Given the description of an element on the screen output the (x, y) to click on. 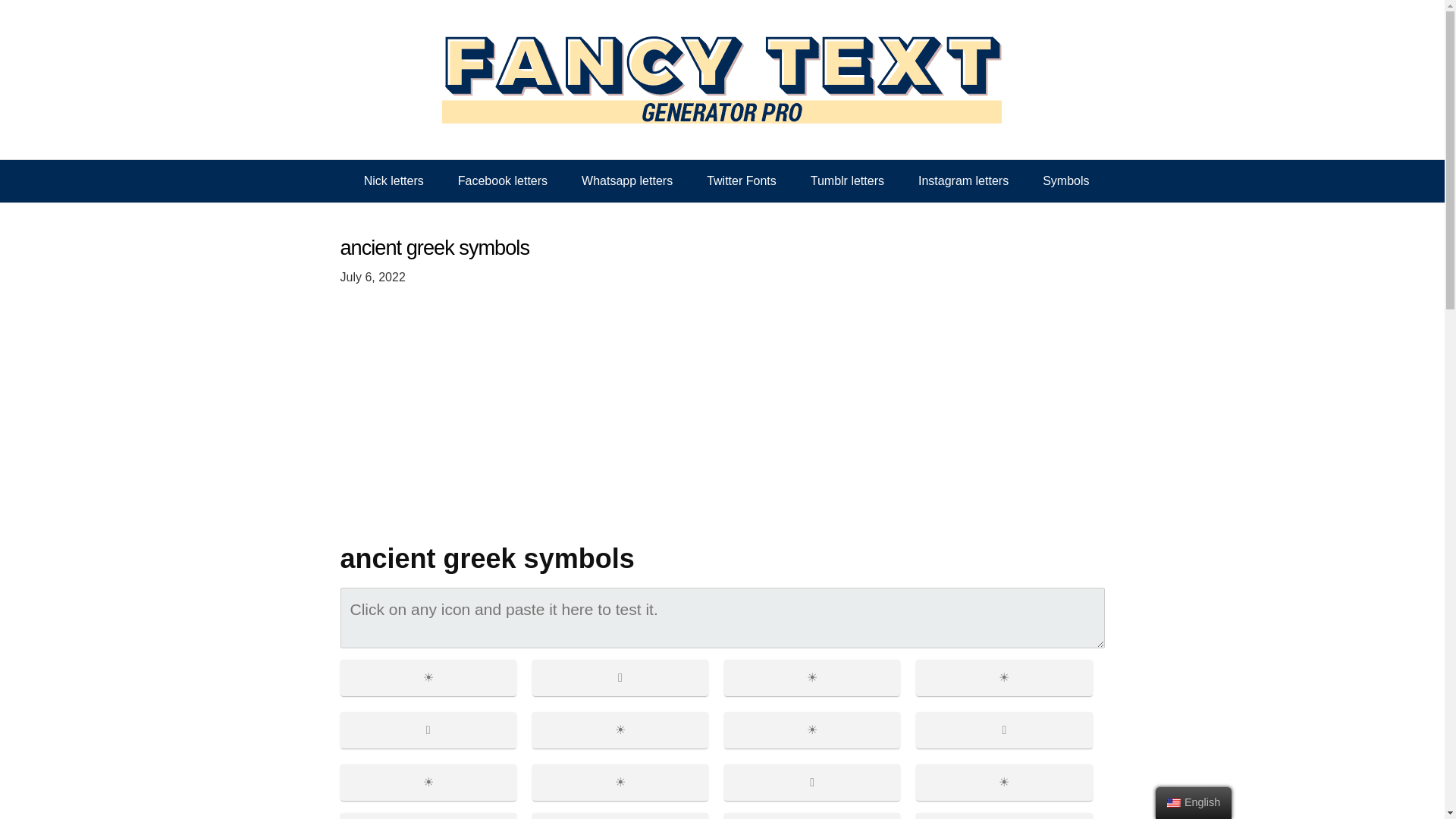
Facebook letters (502, 180)
Tumblr letters (846, 180)
English (1173, 802)
Nick letters (394, 180)
Twitter Fonts (741, 180)
Symbols (1065, 180)
Instagram letters (962, 180)
Whatsapp letters (626, 180)
